Given the description of an element on the screen output the (x, y) to click on. 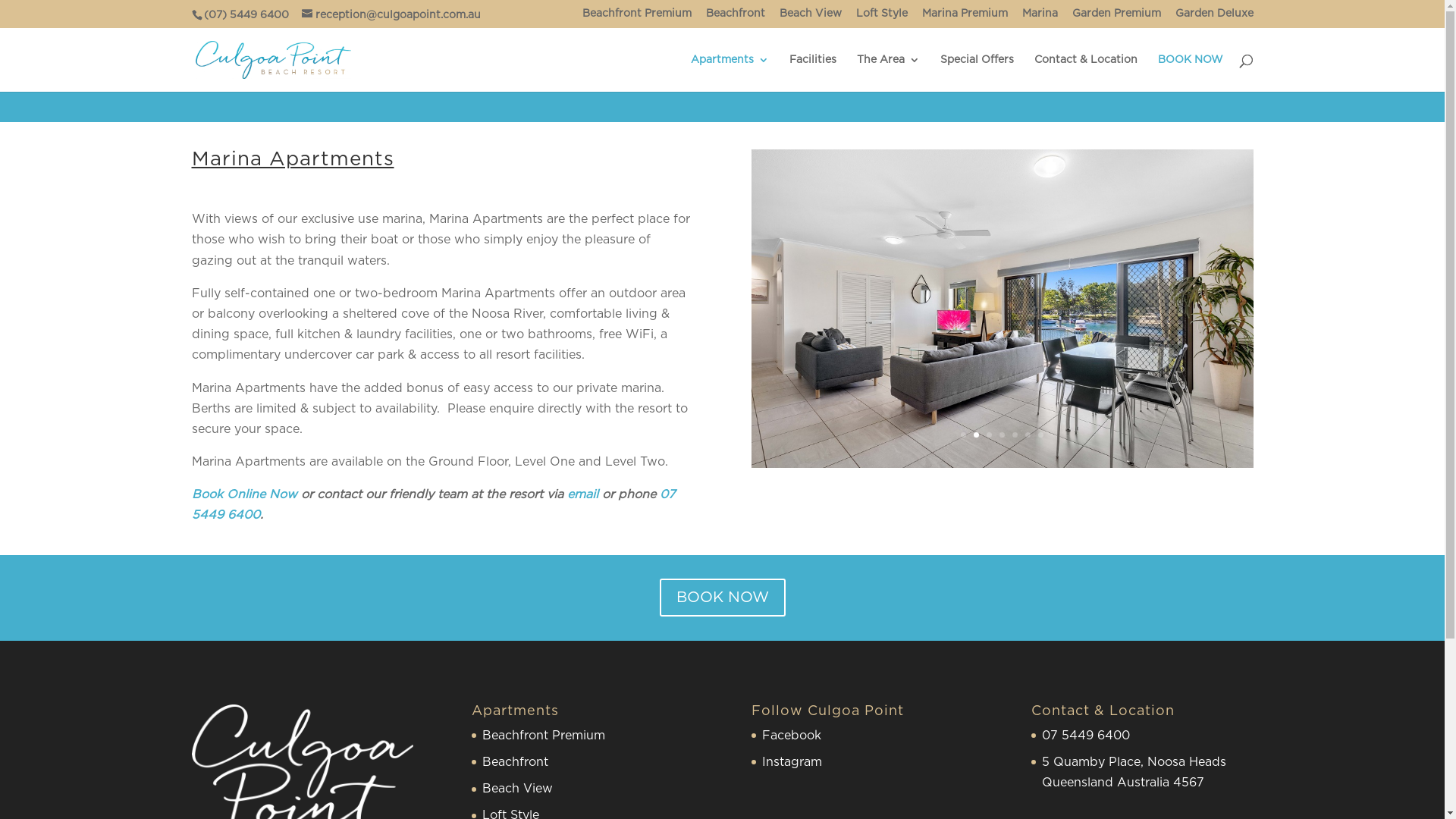
2 Element type: text (976, 434)
6 Element type: text (1027, 434)
Beach View Element type: text (810, 16)
Loft Style Element type: text (880, 16)
reception@culgoapoint.com.au Element type: text (390, 14)
1 Element type: text (963, 434)
Special Offers Element type: text (976, 72)
3 Element type: text (988, 434)
4 Element type: text (1001, 434)
Instagram Element type: text (792, 762)
Garden Premium Element type: text (1116, 16)
07 5449 6400 Element type: text (432, 504)
Contact & Location Element type: text (1085, 72)
7 Element type: text (1040, 434)
Facilities Element type: text (811, 72)
5 Element type: text (1014, 434)
The Area Element type: text (887, 72)
Beachfront Premium Element type: text (543, 735)
Beachfront Element type: text (515, 762)
email Element type: text (584, 494)
Beachfront Element type: text (734, 16)
Beachfront Premium Element type: text (636, 16)
Marina Premium Element type: text (964, 16)
BOOK NOW Element type: text (722, 597)
BOOK NOW Element type: text (1189, 72)
Facebook Element type: text (791, 735)
Marina Element type: text (1039, 16)
Book Online Now Element type: text (243, 494)
Beach View Element type: text (517, 788)
Marina Apartments Element type: text (292, 159)
Garden Deluxe Element type: text (1214, 16)
Apartments Element type: text (729, 72)
